Given the description of an element on the screen output the (x, y) to click on. 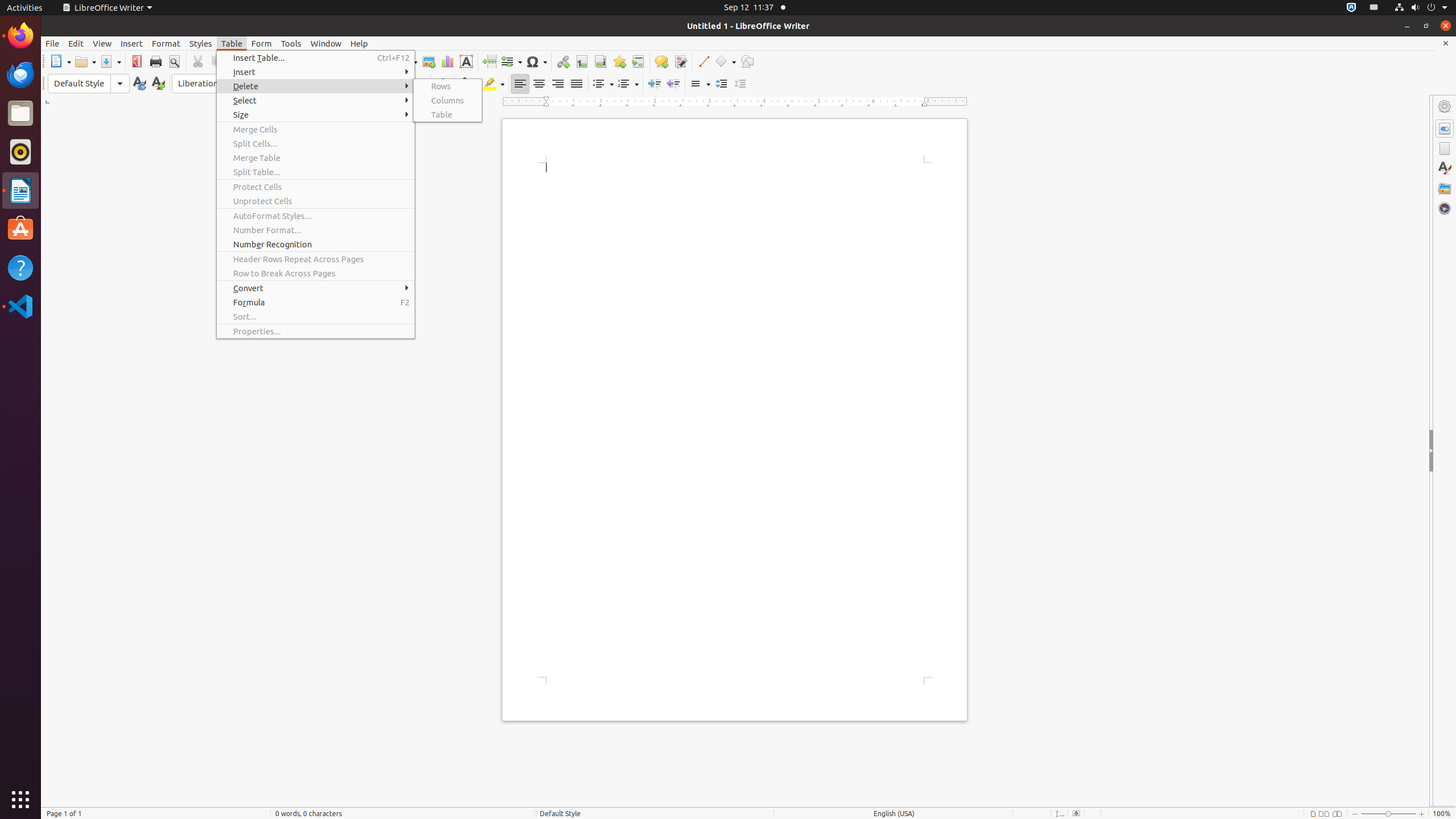
Row to Break Across Pages Element type: menu-item (315, 273)
System Element type: menu (1420, 7)
LibreOffice Writer Element type: push-button (20, 190)
Image Element type: push-button (428, 61)
org.kde.StatusNotifierItem-14077-1 Element type: menu (1373, 7)
